Given the description of an element on the screen output the (x, y) to click on. 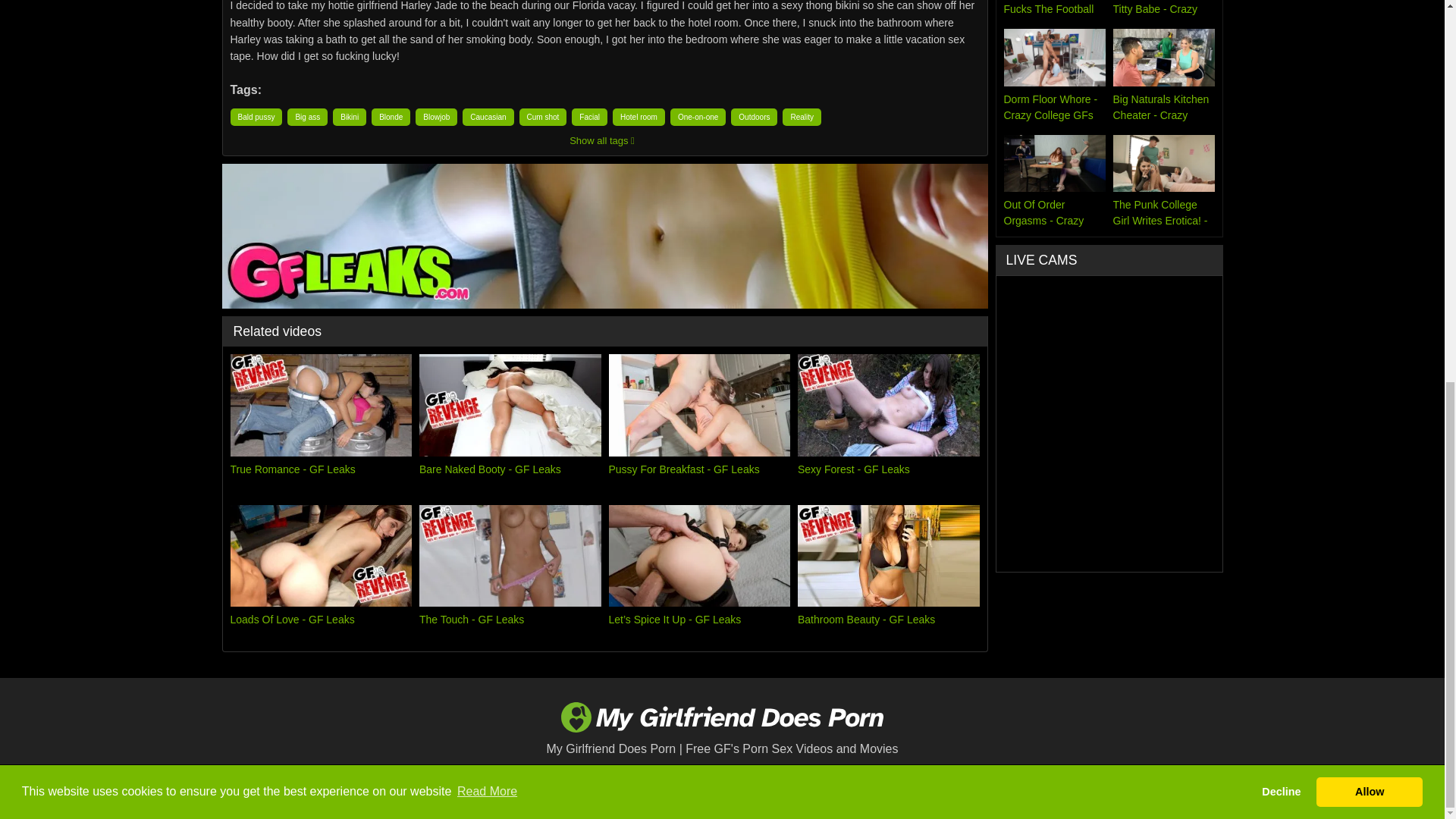
Blonde (390, 117)
Bikini (349, 117)
Big ass (306, 117)
Bald pussy (256, 117)
